Given the description of an element on the screen output the (x, y) to click on. 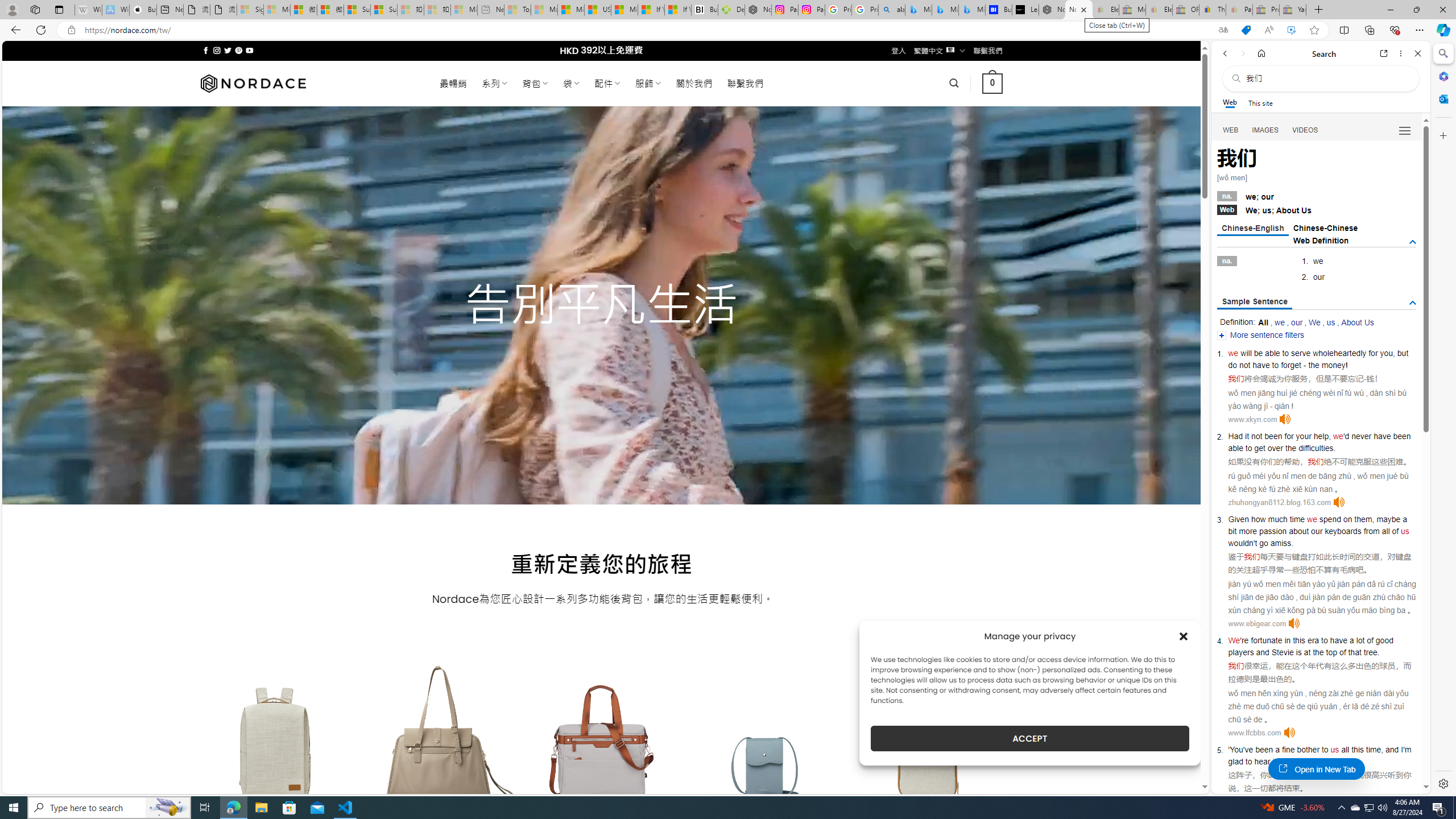
to (1323, 640)
have (1337, 640)
bother (1308, 749)
forget (1291, 364)
Search Filter, WEB (1231, 129)
spend (1329, 519)
